Given the description of an element on the screen output the (x, y) to click on. 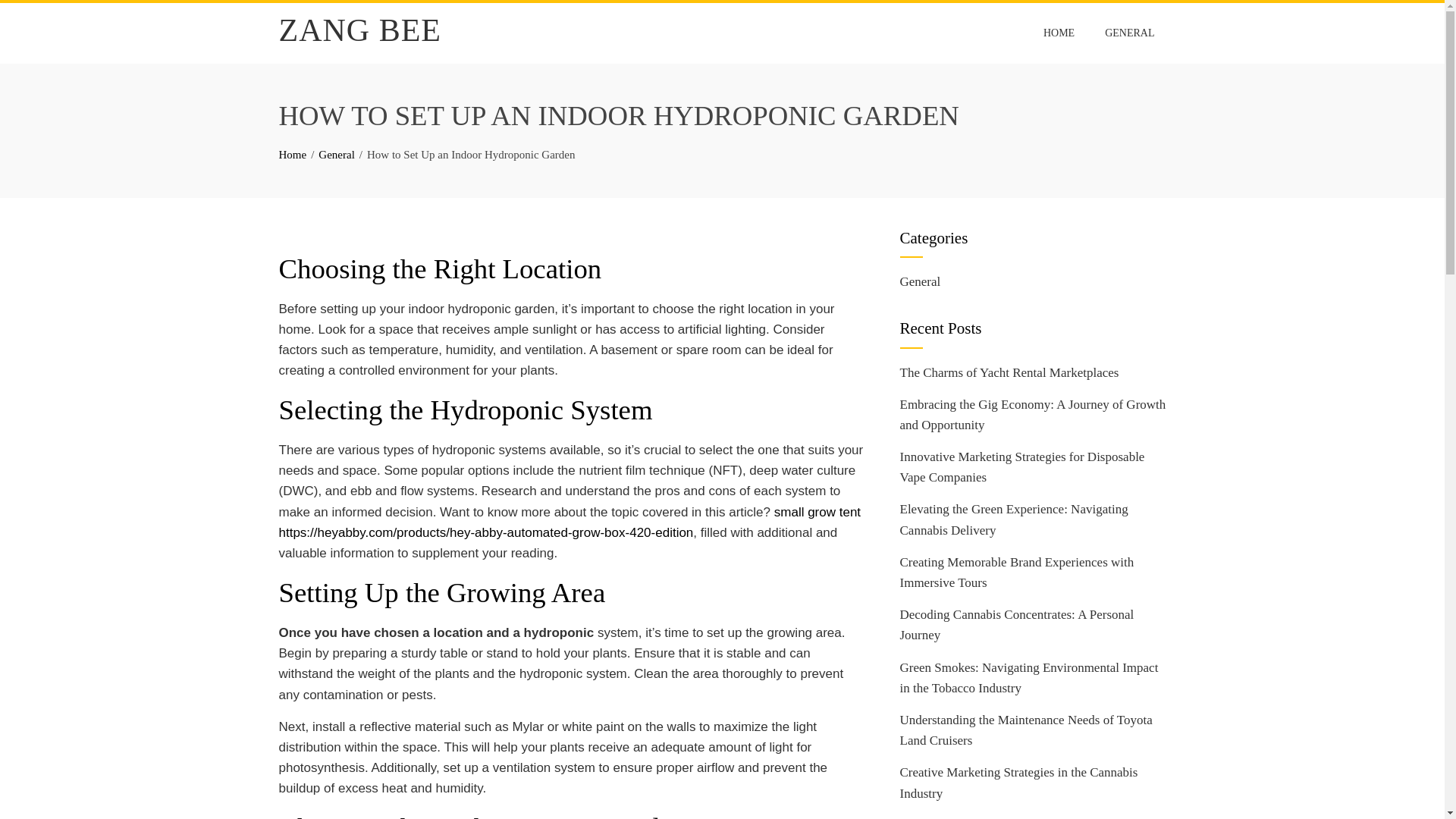
Creative Marketing Strategies in the Cannabis Industry (1018, 782)
The Charms of Yacht Rental Marketplaces (1008, 372)
General (919, 281)
Elevating the Green Experience: Navigating Cannabis Delivery (1012, 519)
Decoding Cannabis Concentrates: A Personal Journey (1016, 624)
Creating Memorable Brand Experiences with Immersive Tours (1016, 572)
HOME (1059, 32)
